Given the description of an element on the screen output the (x, y) to click on. 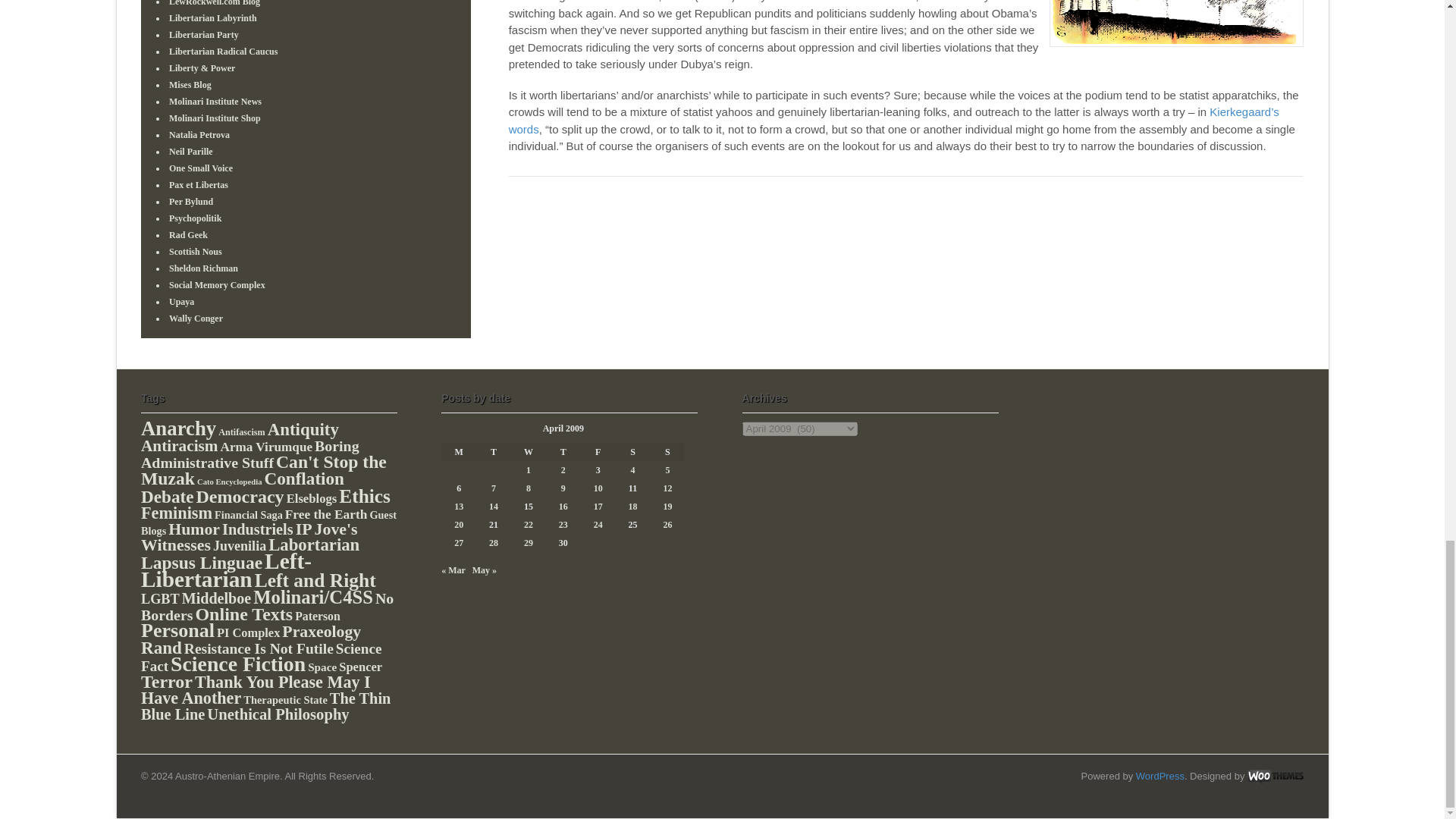
Friday (597, 452)
Wednesday (528, 452)
Saturday (632, 452)
Tuesday (493, 452)
Thursday (563, 452)
Monday (458, 452)
Sunday (666, 452)
mad tea party (1176, 23)
